Given the description of an element on the screen output the (x, y) to click on. 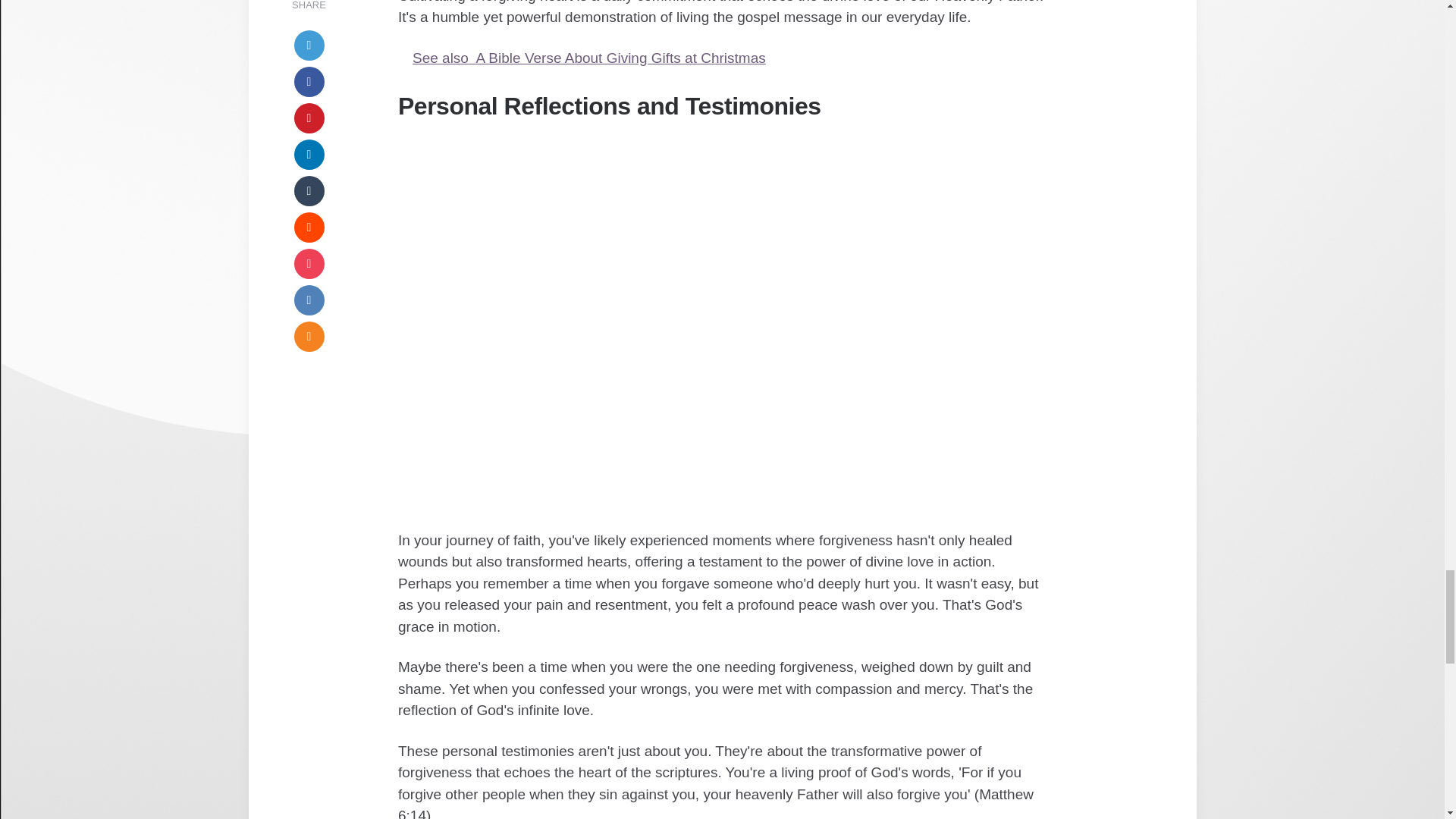
See also  A Bible Verse About Giving Gifts at Christmas (721, 58)
